Given the description of an element on the screen output the (x, y) to click on. 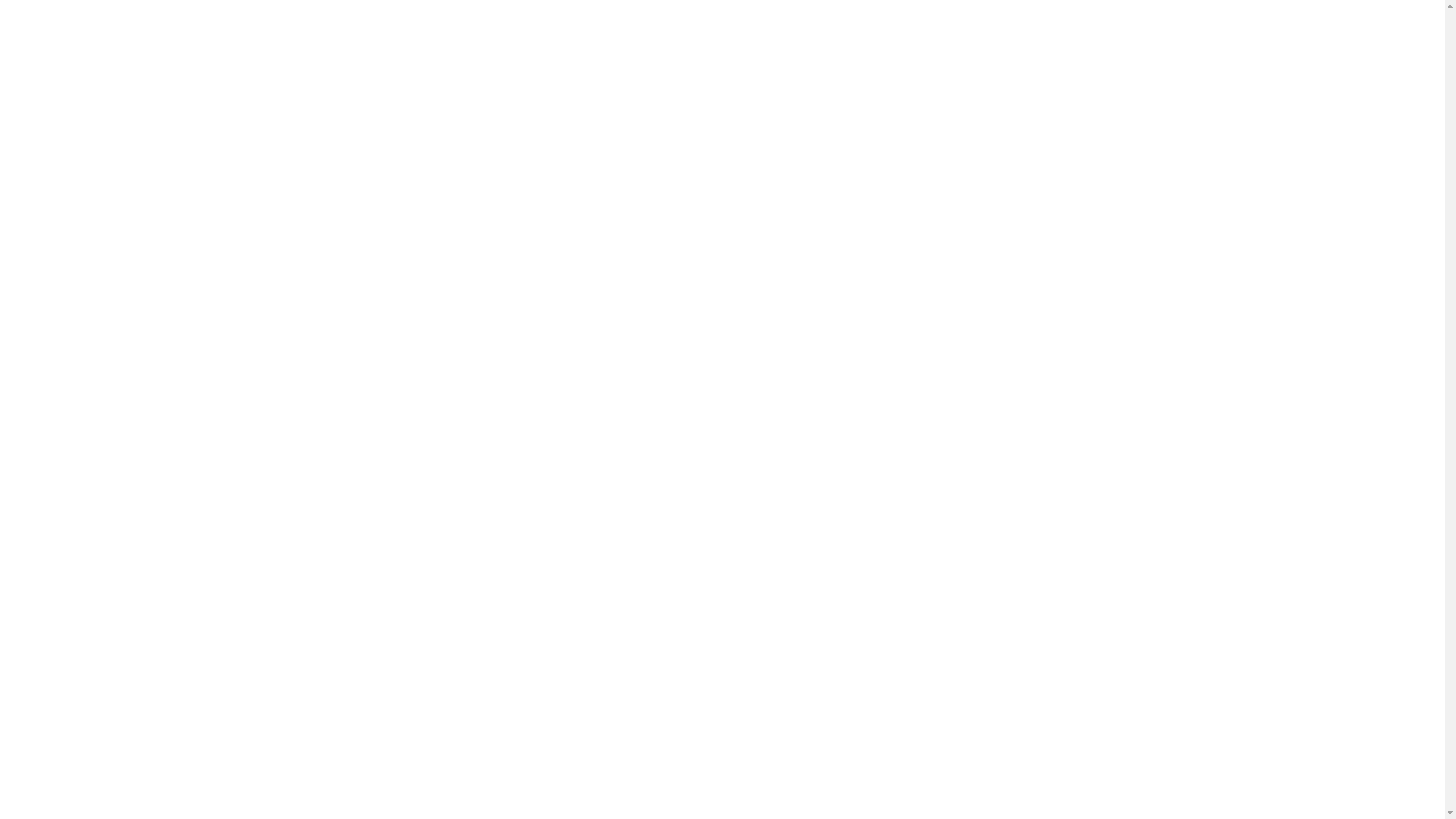
Sitemap Element type: text (722, 734)
HOME Element type: text (930, 507)
